Given the description of an element on the screen output the (x, y) to click on. 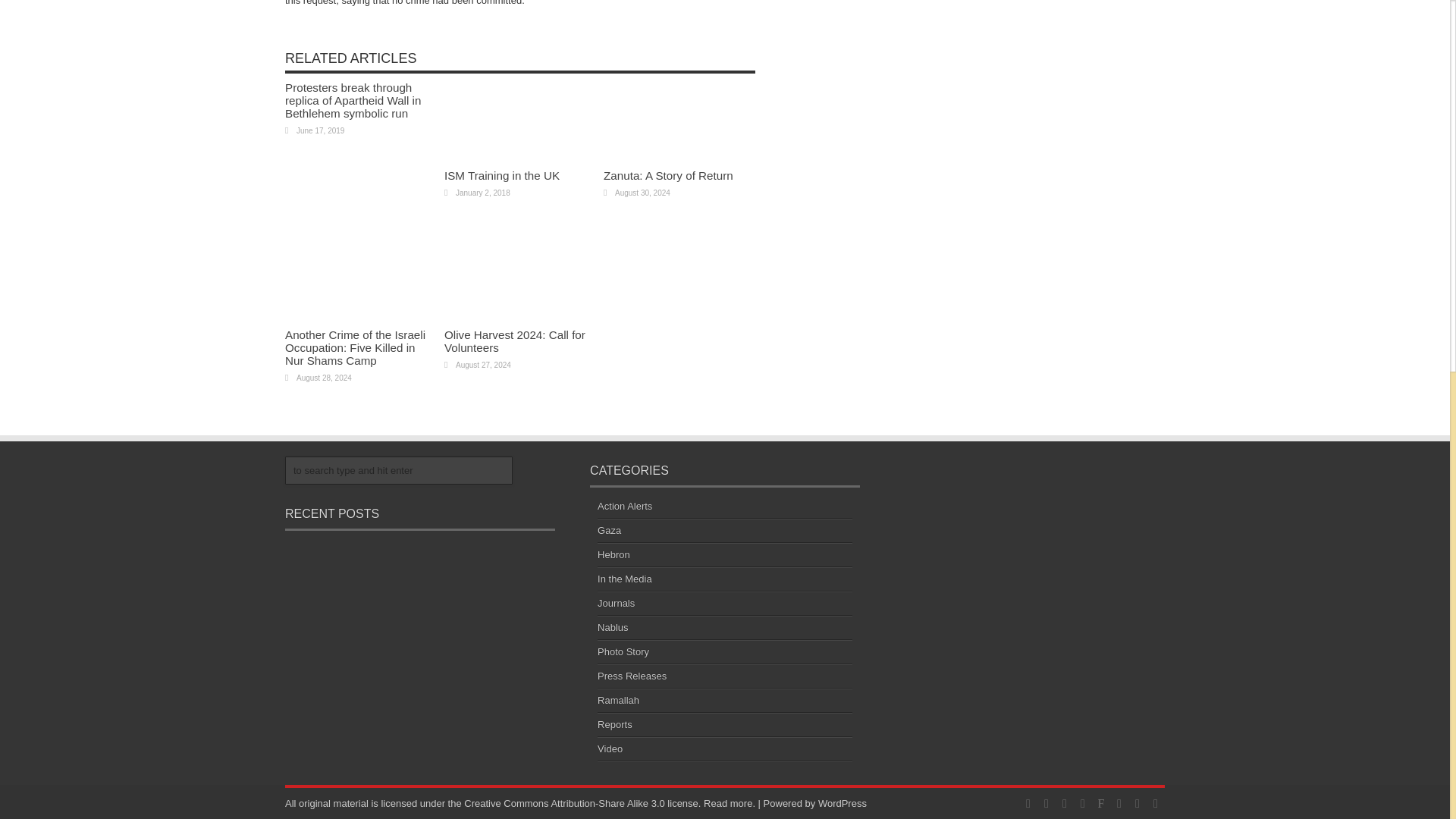
ISM Training in the UK (501, 174)
to search type and hit enter (398, 470)
Zanuta: A Story of Return (668, 174)
Olive Harvest 2024: Call for Volunteers (514, 340)
